Given the description of an element on the screen output the (x, y) to click on. 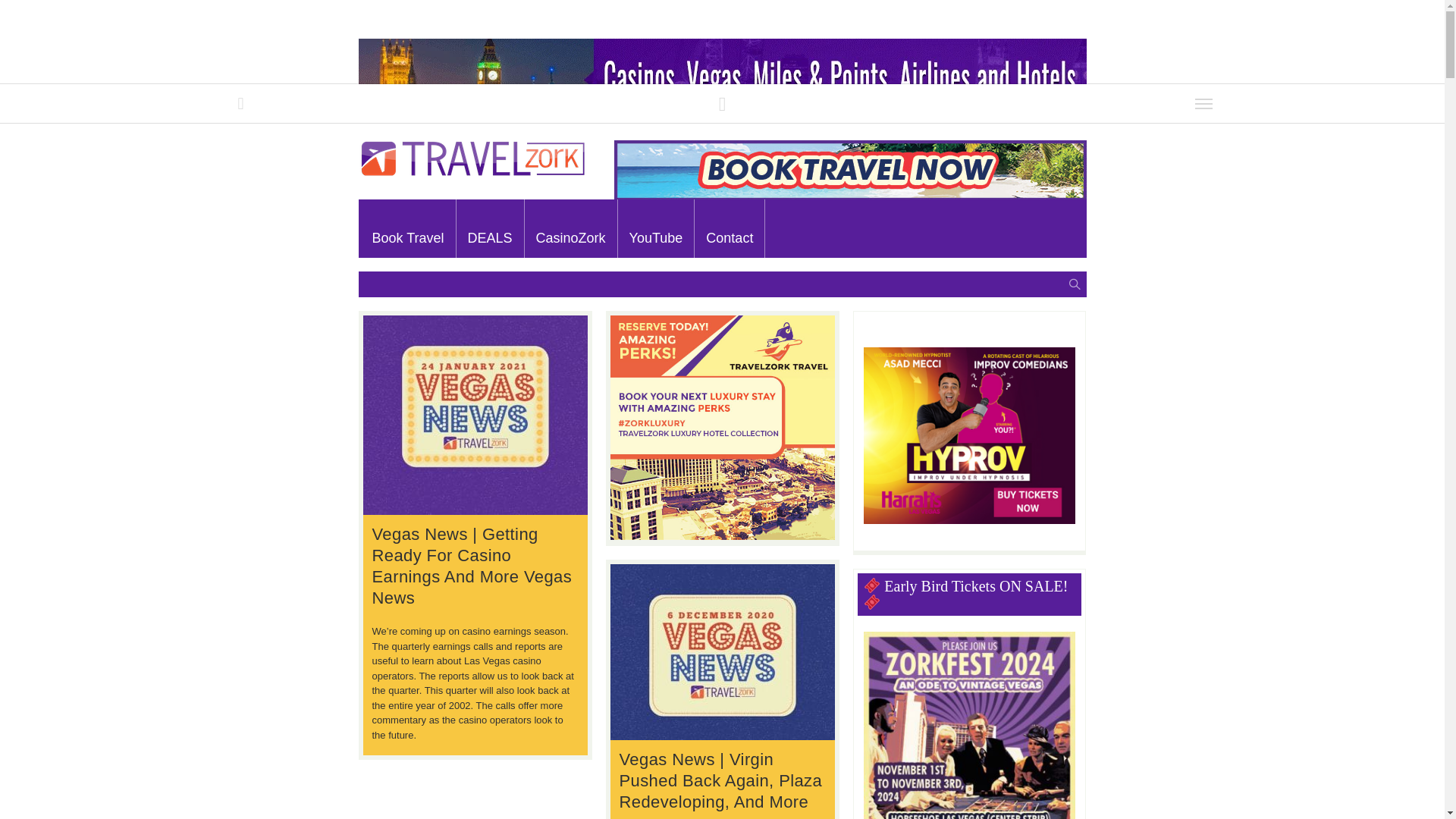
TravelZork (471, 173)
YouTube (655, 228)
DEALS (490, 228)
Contact (729, 228)
CasinoZork (570, 228)
LiveChat chat widget (1310, 600)
Book Travel (408, 228)
